Given the description of an element on the screen output the (x, y) to click on. 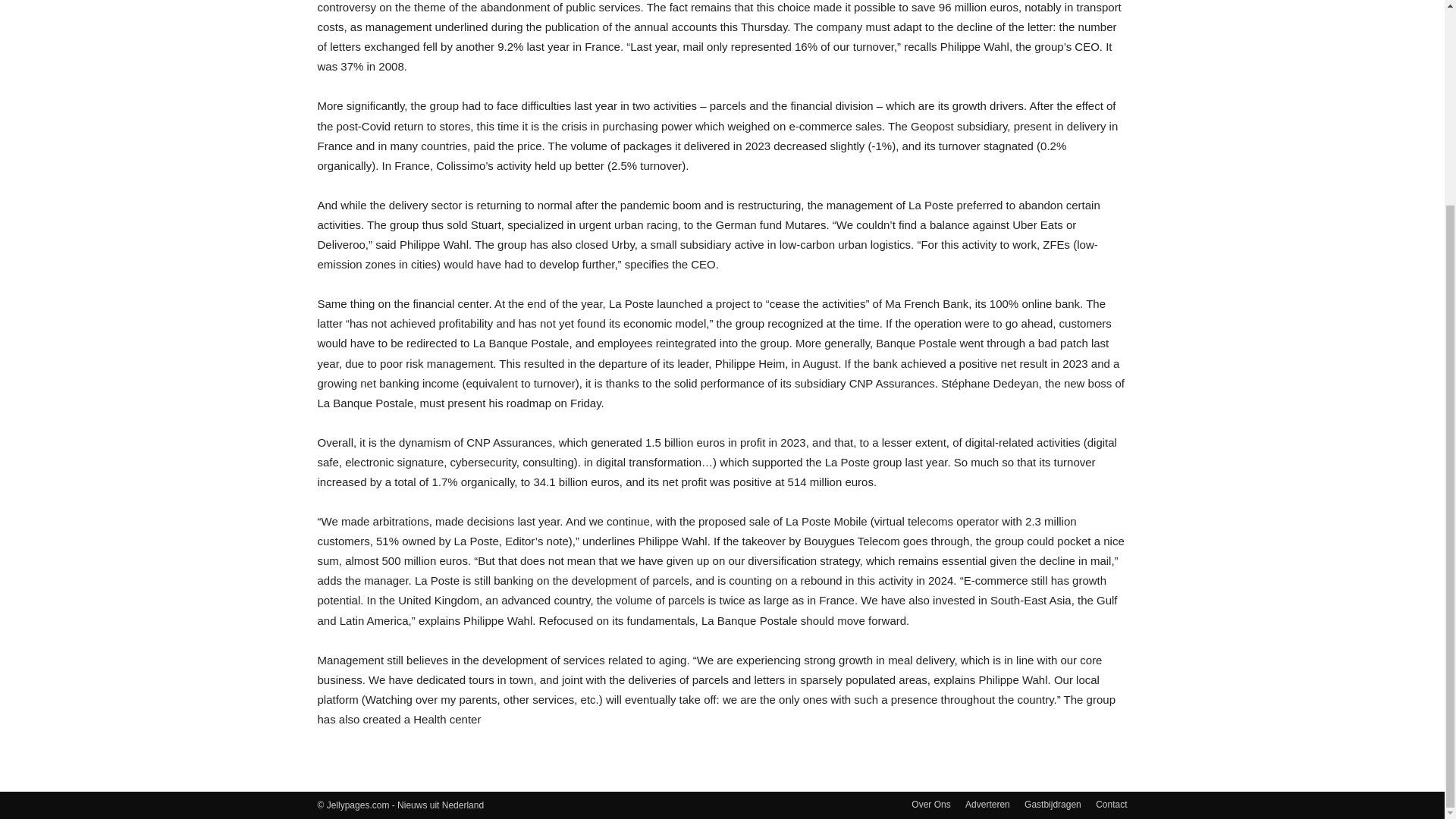
Adverteren (987, 804)
Over Ons (930, 804)
Contact (1111, 804)
Gastbijdragen (1053, 804)
